Given the description of an element on the screen output the (x, y) to click on. 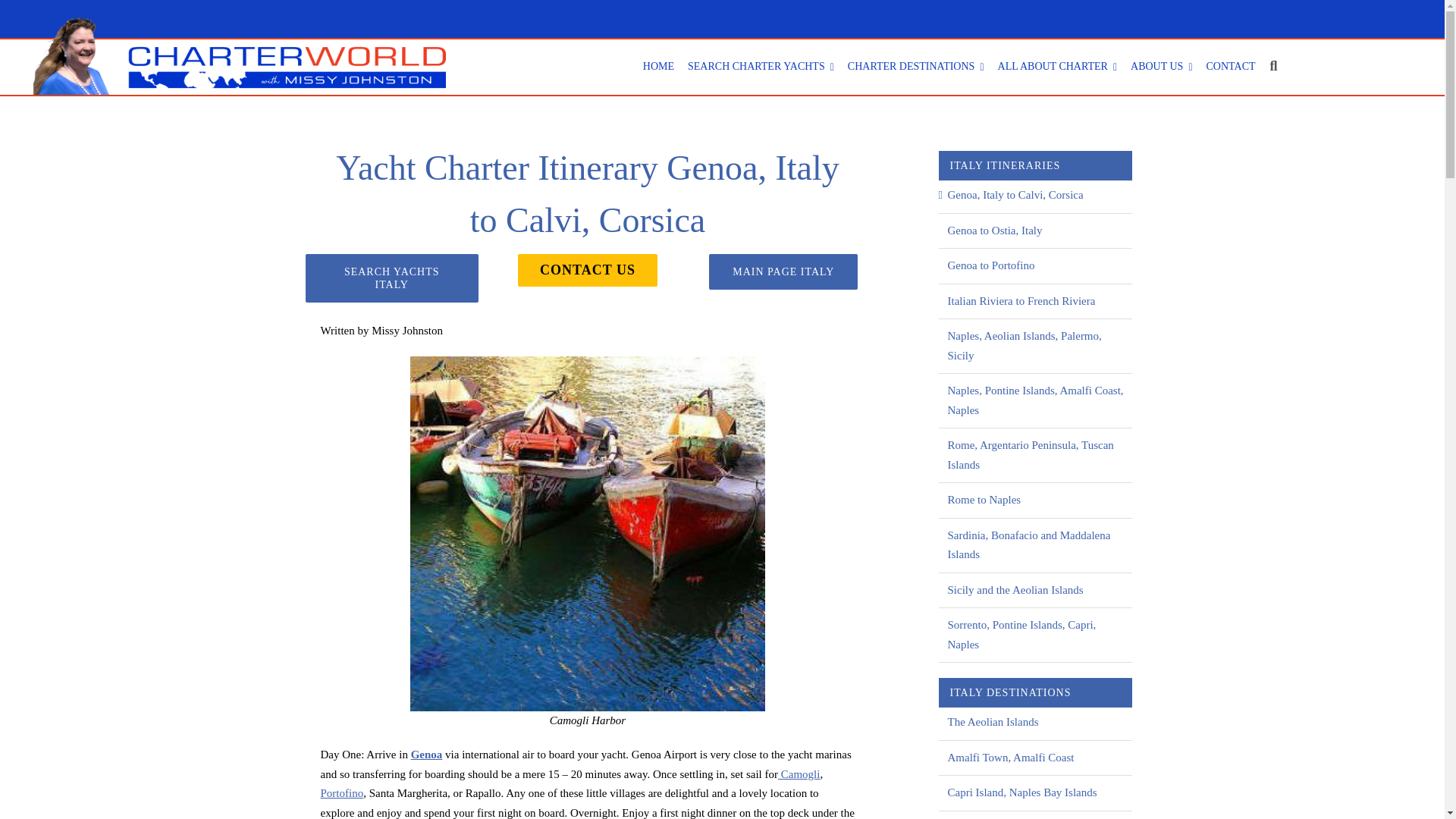
search all charter yachts in italy (390, 277)
ALL ABOUT CHARTER (586, 285)
SEARCH CHARTER YACHTS (1057, 66)
main page italy (761, 66)
Yacht Charter Itinerary Genoa, Italy to Calvi, Corsica (783, 271)
ABOUT US (586, 195)
HOME (1161, 66)
CHARTER DESTINATIONS (658, 66)
CONTACT (916, 66)
